Given the description of an element on the screen output the (x, y) to click on. 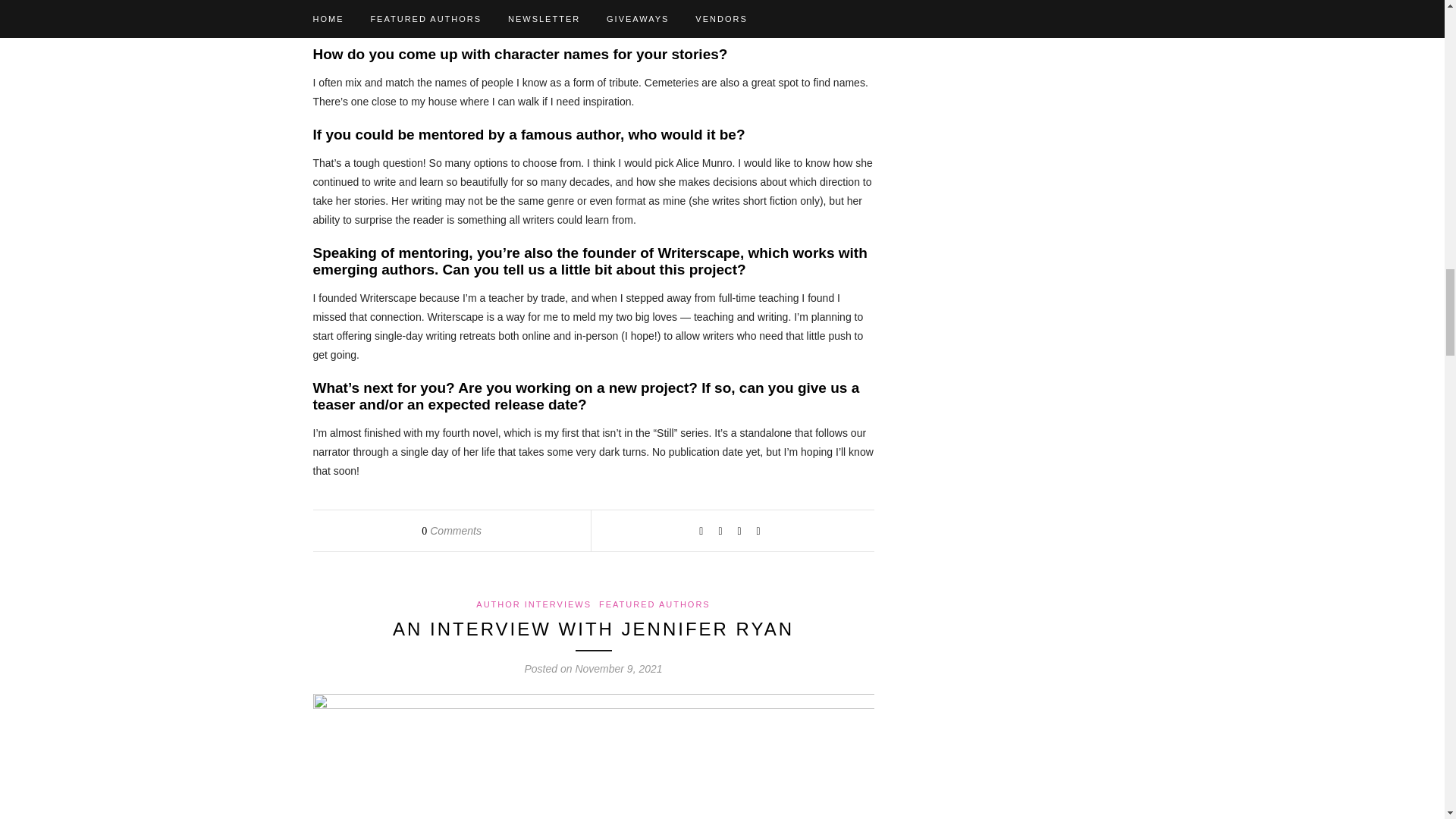
0 Comments (451, 530)
FEATURED AUTHORS (654, 604)
AN INTERVIEW WITH JENNIFER RYAN (593, 629)
AUTHOR INTERVIEWS (533, 604)
